Given the description of an element on the screen output the (x, y) to click on. 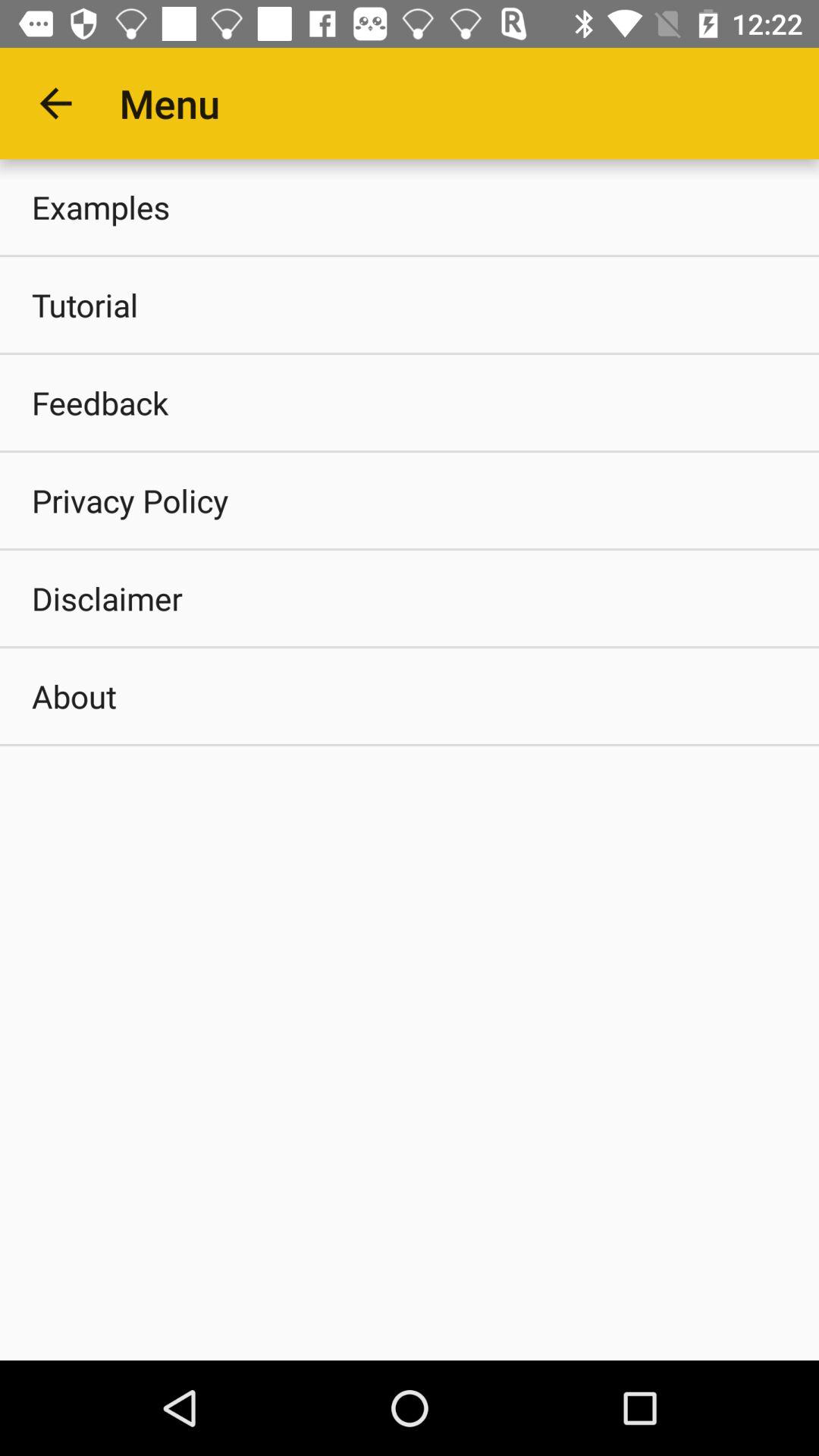
select item above the feedback (409, 304)
